Given the description of an element on the screen output the (x, y) to click on. 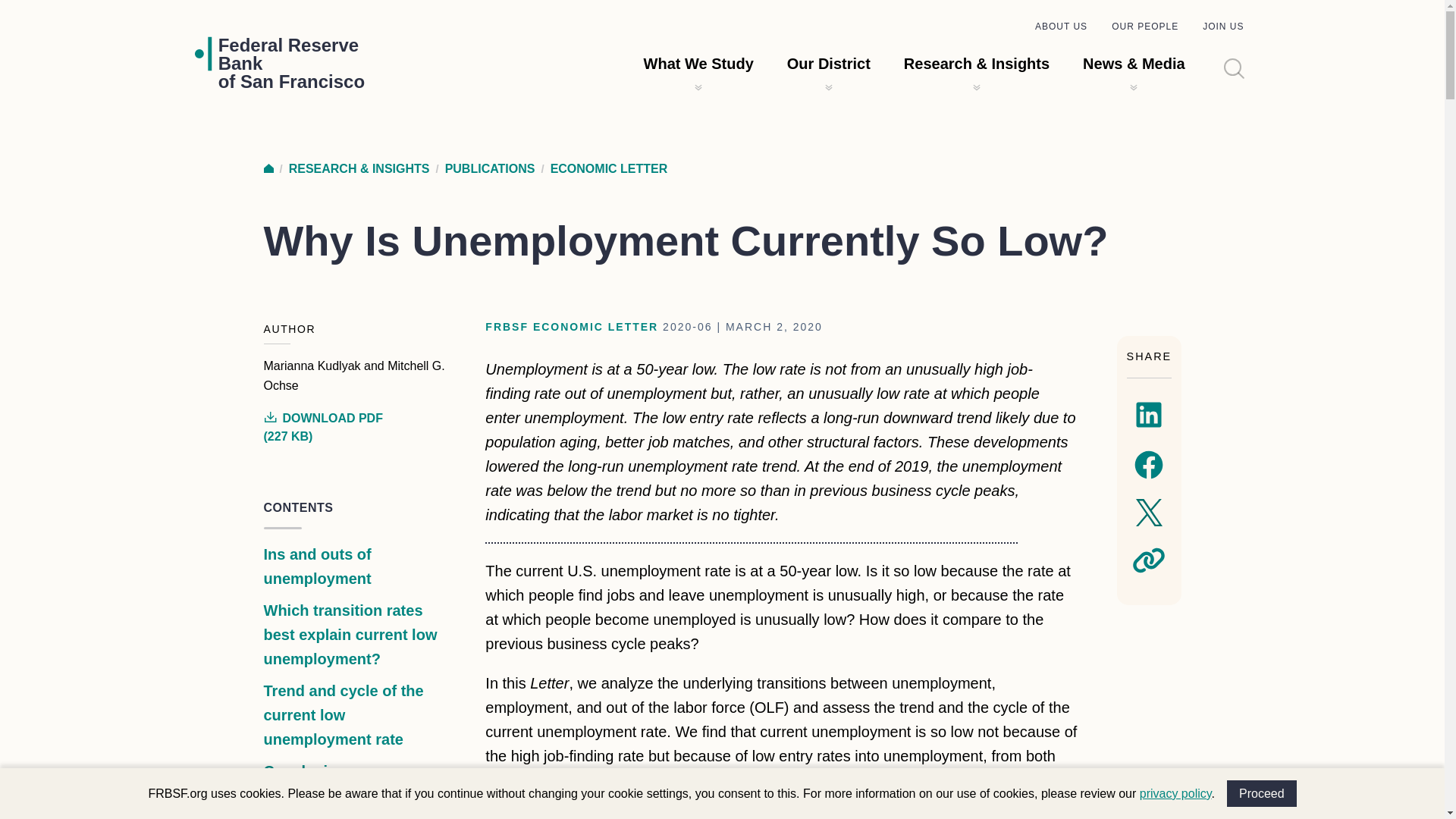
Our District (828, 63)
OUR PEOPLE (1144, 26)
What We Study (698, 63)
privacy policy (1175, 793)
HOME (268, 167)
Proceed (291, 63)
JOIN US (1262, 793)
ABOUT US (1222, 26)
